Given the description of an element on the screen output the (x, y) to click on. 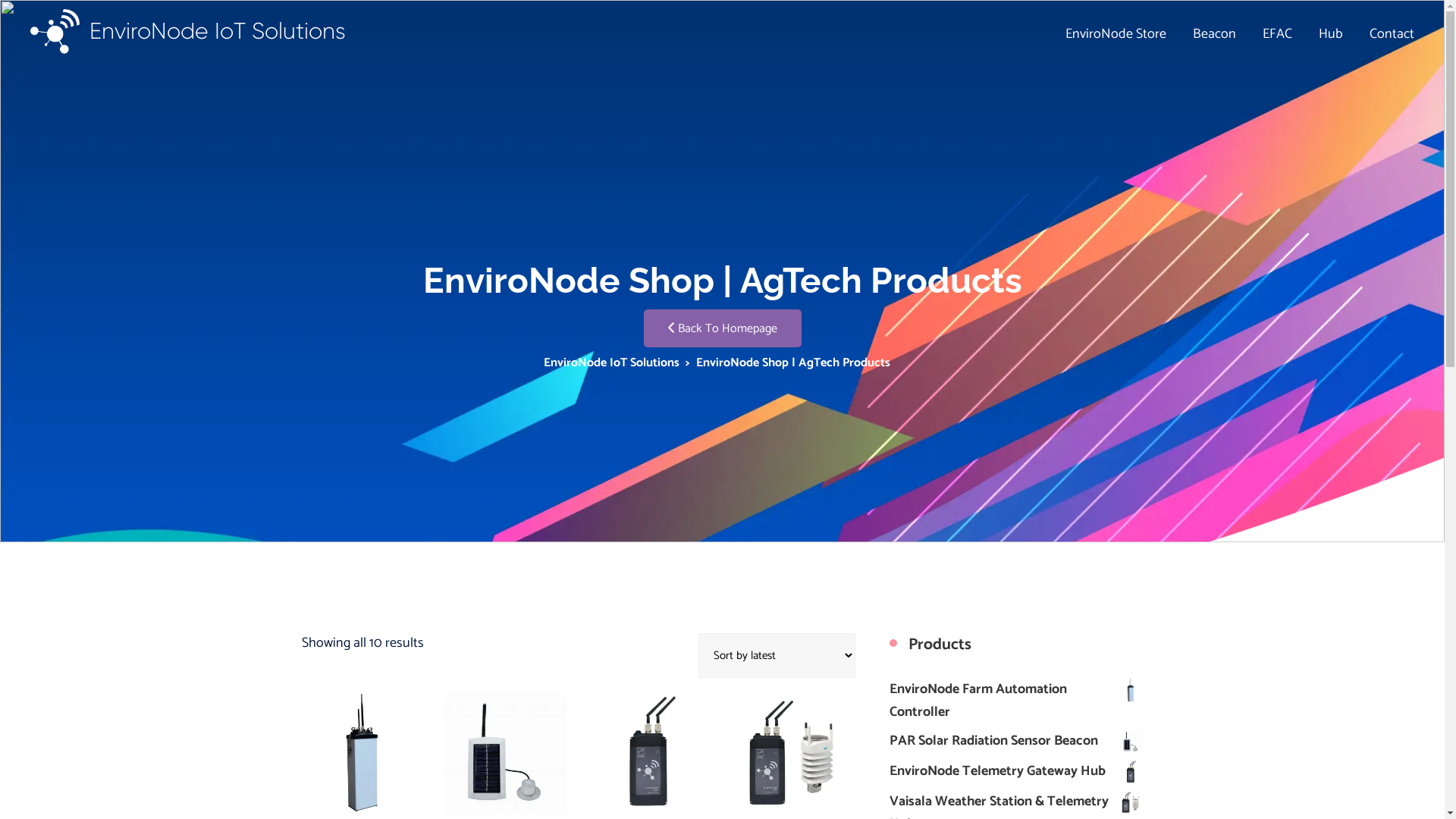
EnviroNode Store Element type: text (1115, 33)
EnviroNode IoT Solutions Element type: text (610, 362)
EFAC Element type: text (1277, 33)
PAR Solar Radiation Sensor Beacon Element type: text (1015, 740)
EnviroNode Telemetry Gateway Hub Element type: text (1015, 770)
EnviroNode IoT Solutions Element type: text (187, 31)
Hub Element type: text (1330, 33)
Contact Element type: text (1391, 33)
Beacon Element type: text (1214, 33)
EnviroNode Farm Automation Controller Element type: text (1015, 700)
Back To Homepage Element type: text (721, 328)
